Given the description of an element on the screen output the (x, y) to click on. 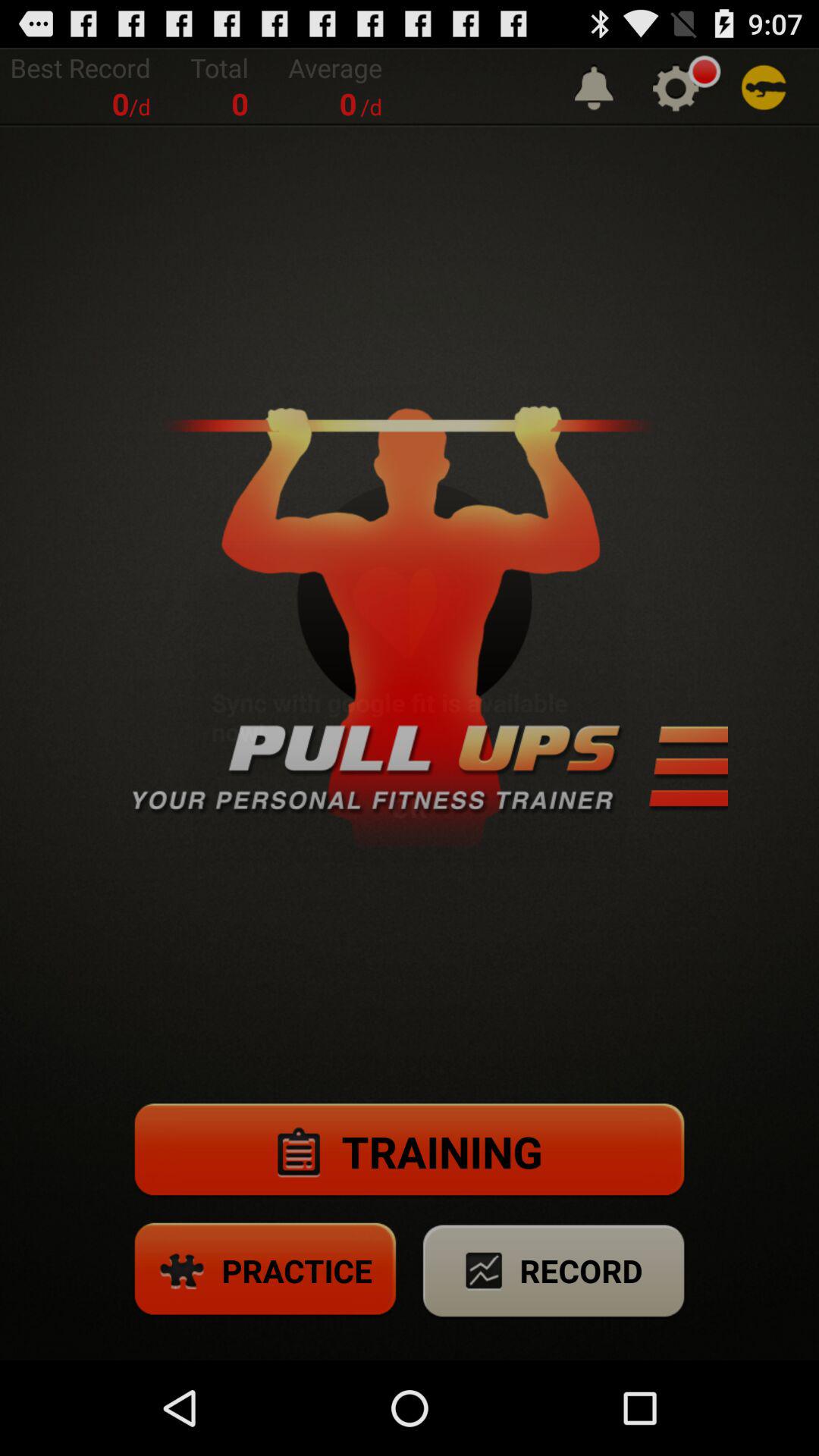
get new content notifications (594, 87)
